Given the description of an element on the screen output the (x, y) to click on. 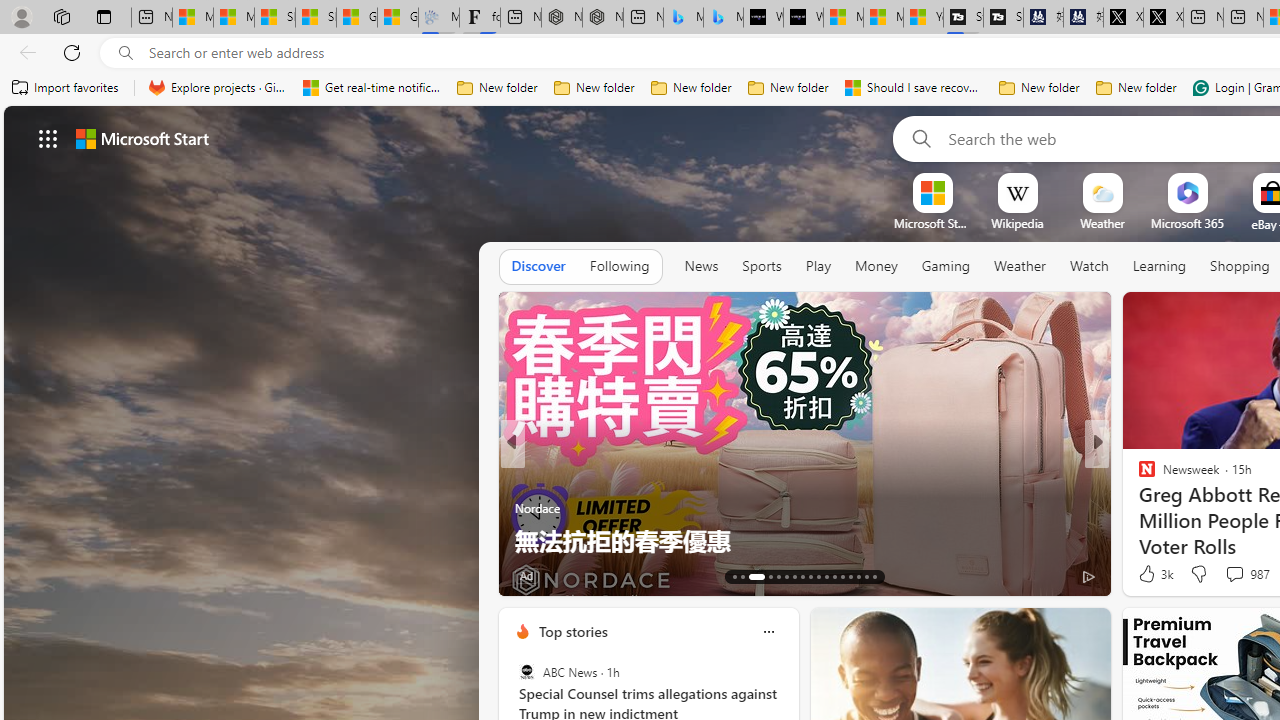
View comments 2 Comment (1229, 575)
AutomationID: tab-26 (850, 576)
Nordace.com (1165, 507)
AutomationID: tab-24 (833, 576)
Wikipedia (1017, 223)
YourTango: Revolutionizing Relationships (522, 475)
AutomationID: tab-19 (793, 576)
View comments 85 Comment (1237, 574)
432 Like (1151, 574)
